Given the description of an element on the screen output the (x, y) to click on. 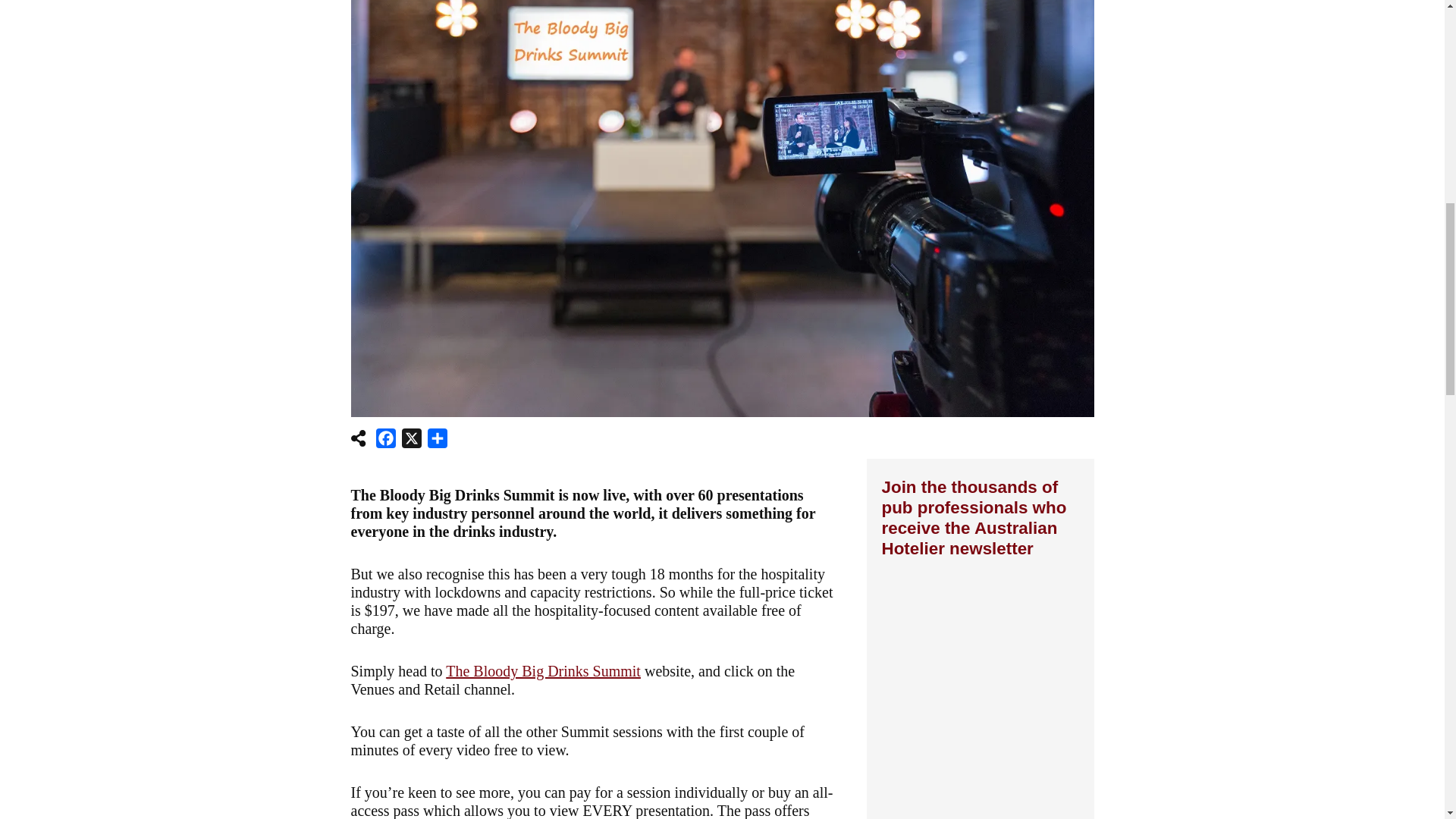
X (411, 441)
Facebook (385, 441)
